Given the description of an element on the screen output the (x, y) to click on. 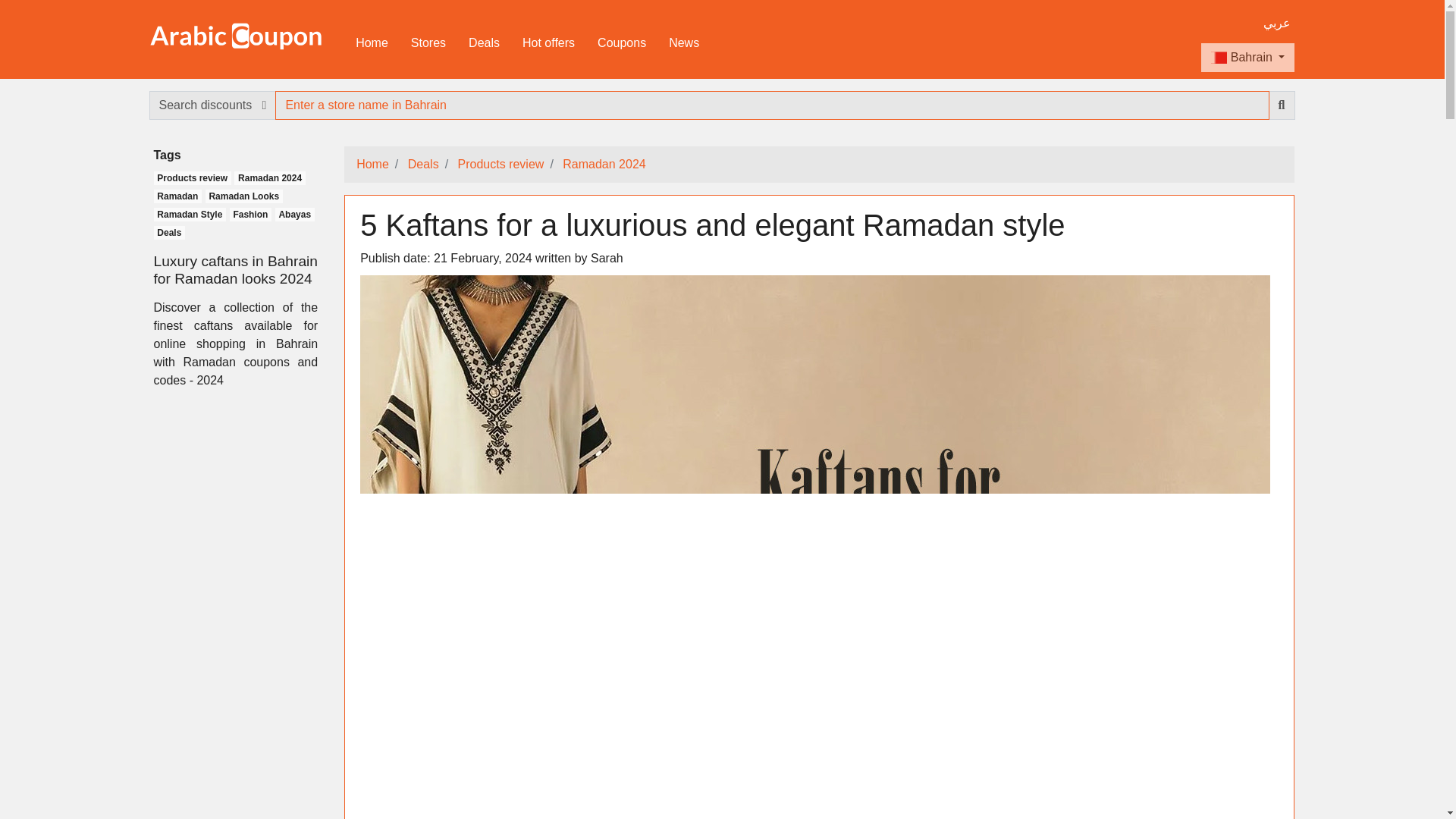
5 Kaftans for a luxurious and elegant Ramadan style (814, 576)
Stores (427, 42)
Coupons (621, 42)
Home (371, 42)
Deals (483, 42)
Home Page (235, 34)
Home (372, 164)
News (683, 42)
